Given the description of an element on the screen output the (x, y) to click on. 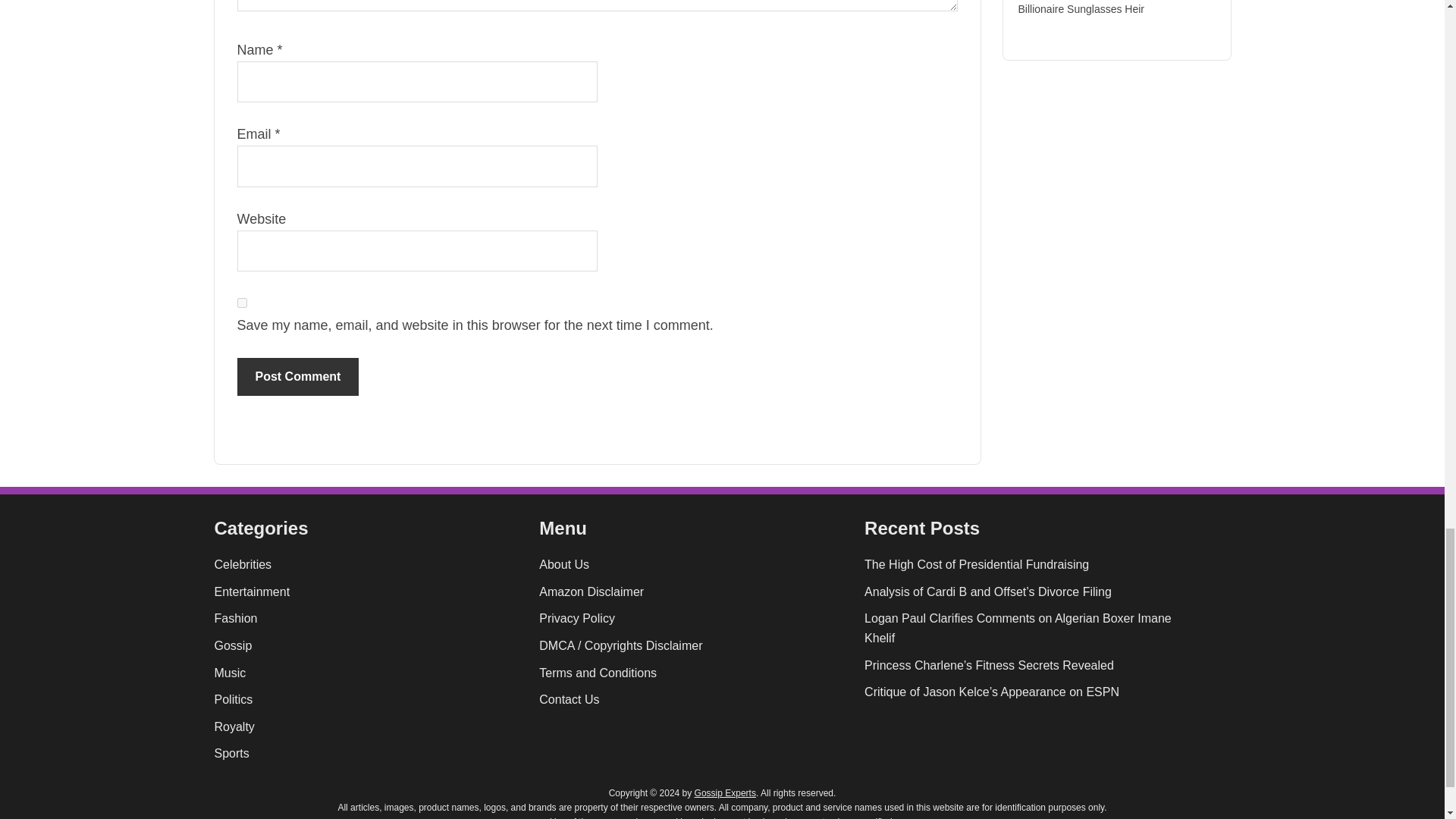
Post Comment (296, 376)
yes (240, 302)
